Given the description of an element on the screen output the (x, y) to click on. 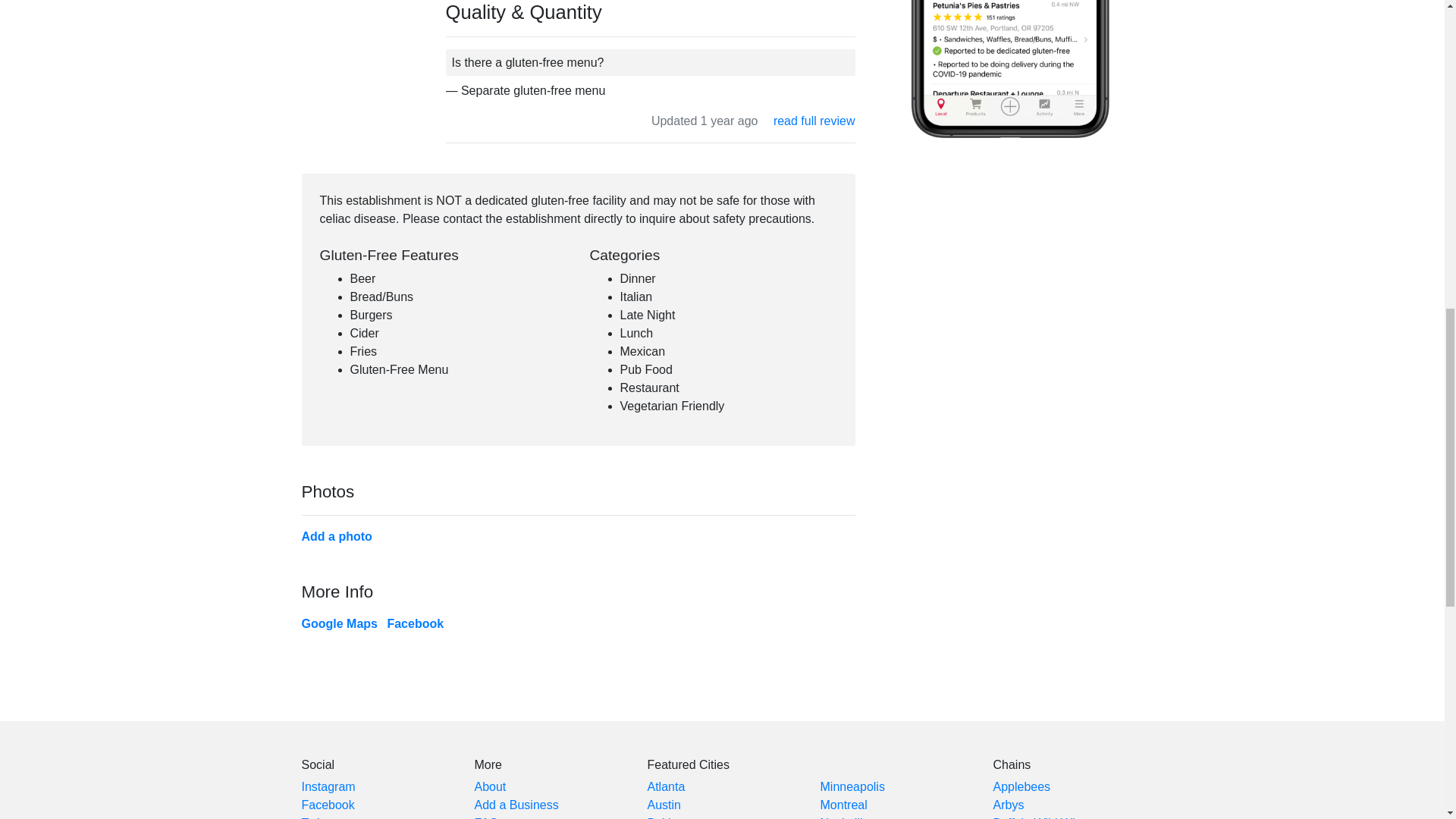
Facebook (328, 804)
Google Maps (339, 623)
Add a photo (336, 535)
Twitter (319, 817)
Instagram (328, 786)
read full review (814, 120)
Facebook (415, 623)
